Given the description of an element on the screen output the (x, y) to click on. 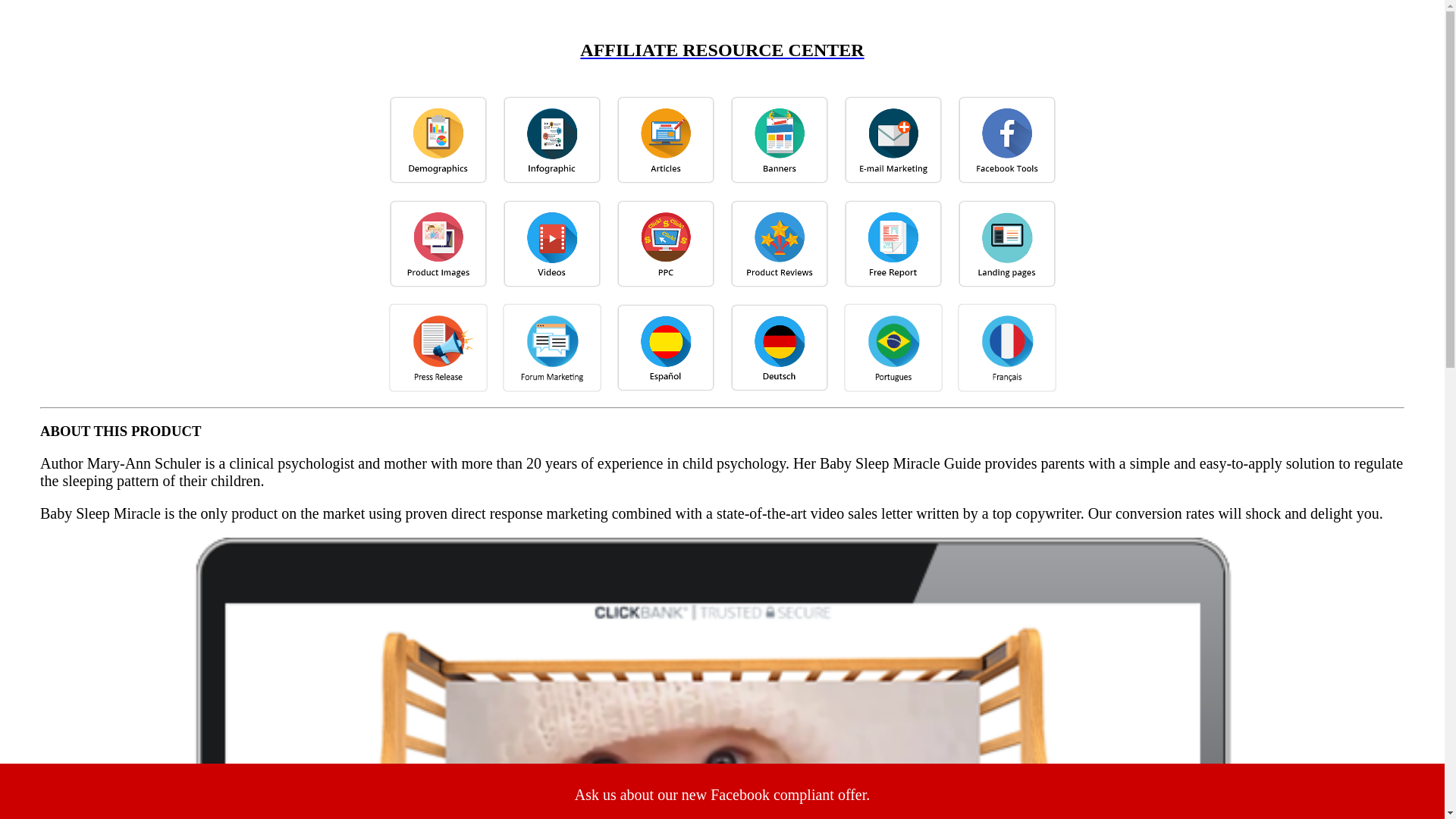
AFFILIATE RESOURCE CENTER (722, 64)
